Given the description of an element on the screen output the (x, y) to click on. 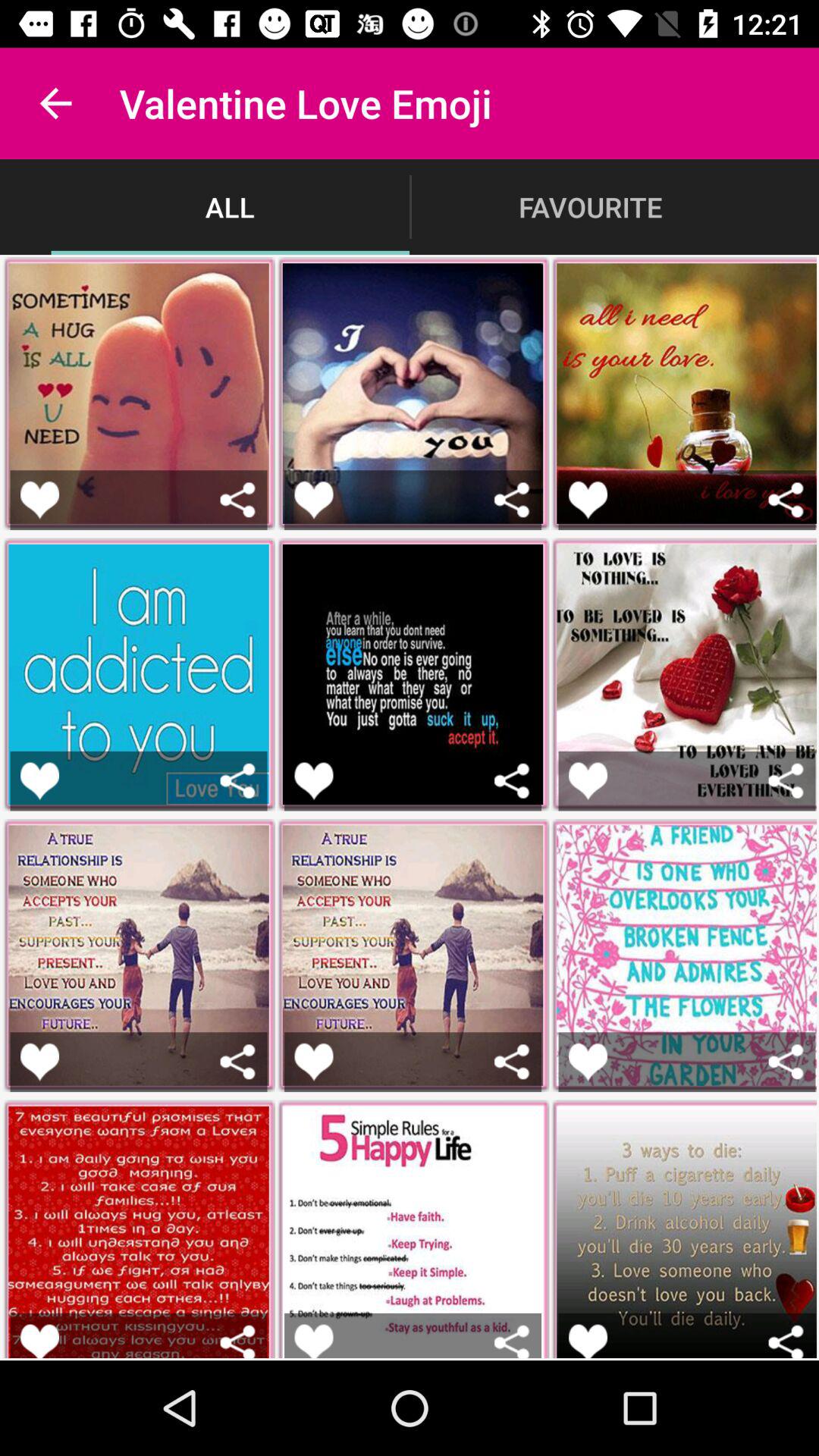
like the picture (39, 499)
